Given the description of an element on the screen output the (x, y) to click on. 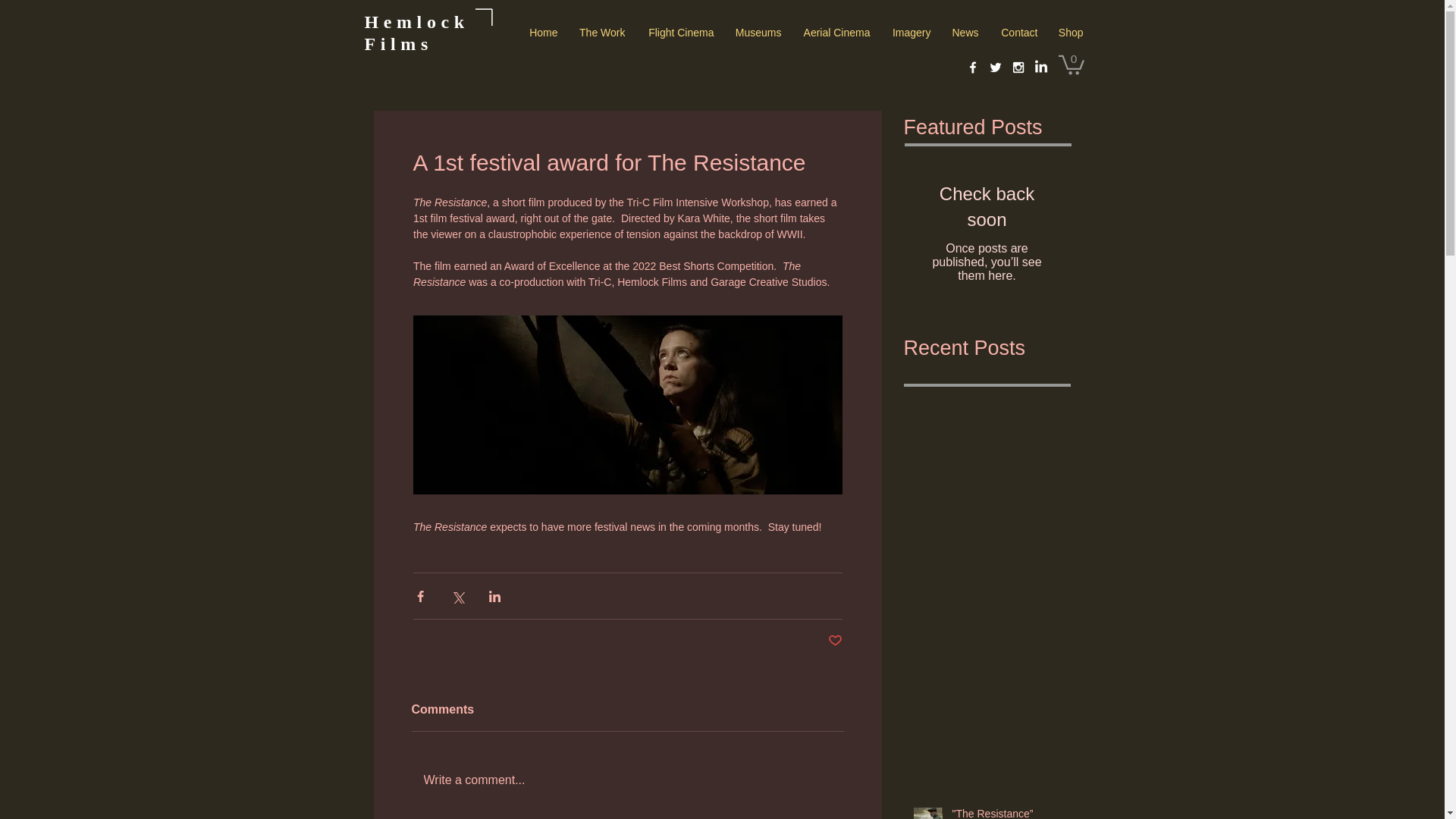
The Work (600, 32)
Contact (1018, 32)
Flight Cinema (678, 32)
0 (1071, 63)
Imagery (909, 32)
Aerial Cinema (836, 32)
News (964, 32)
Home (542, 32)
Shop (1070, 32)
0 (1071, 64)
Post not marked as liked (835, 641)
Museums (756, 32)
